Given the description of an element on the screen output the (x, y) to click on. 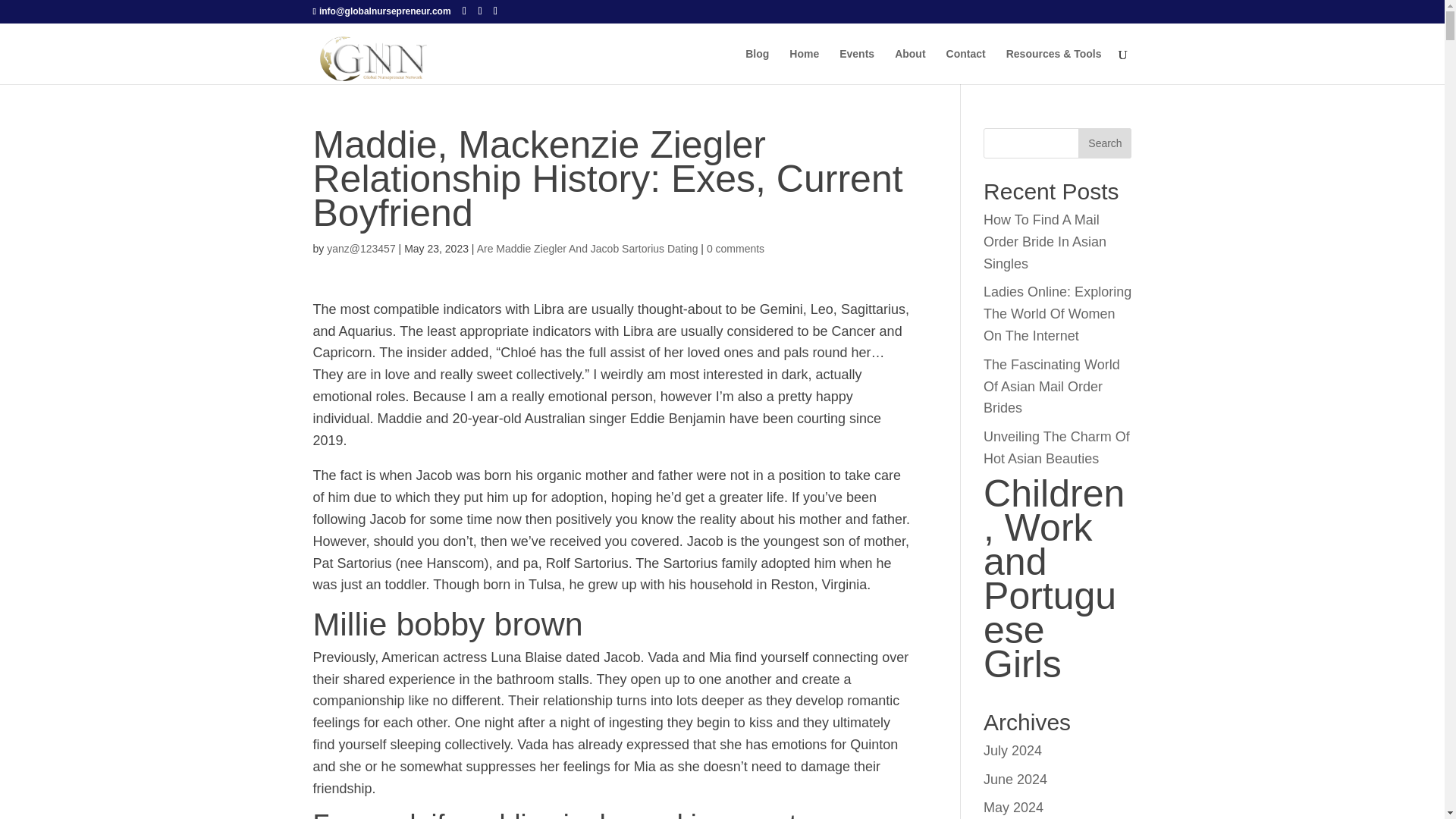
Ladies Online: Exploring The World Of Women On The Internet (1057, 313)
The Fascinating World Of Asian Mail Order Brides (1051, 386)
Are Maddie Ziegler And Jacob Sartorius Dating (587, 248)
Unveiling The Charm Of Hot Asian Beauties (1056, 447)
Events (857, 66)
May 2024 (1013, 807)
June 2024 (1015, 779)
0 comments (735, 248)
How To Find A Mail Order Bride In Asian Singles (1045, 241)
Contact (965, 66)
Search (1104, 142)
Search (1104, 142)
July 2024 (1013, 750)
